Given the description of an element on the screen output the (x, y) to click on. 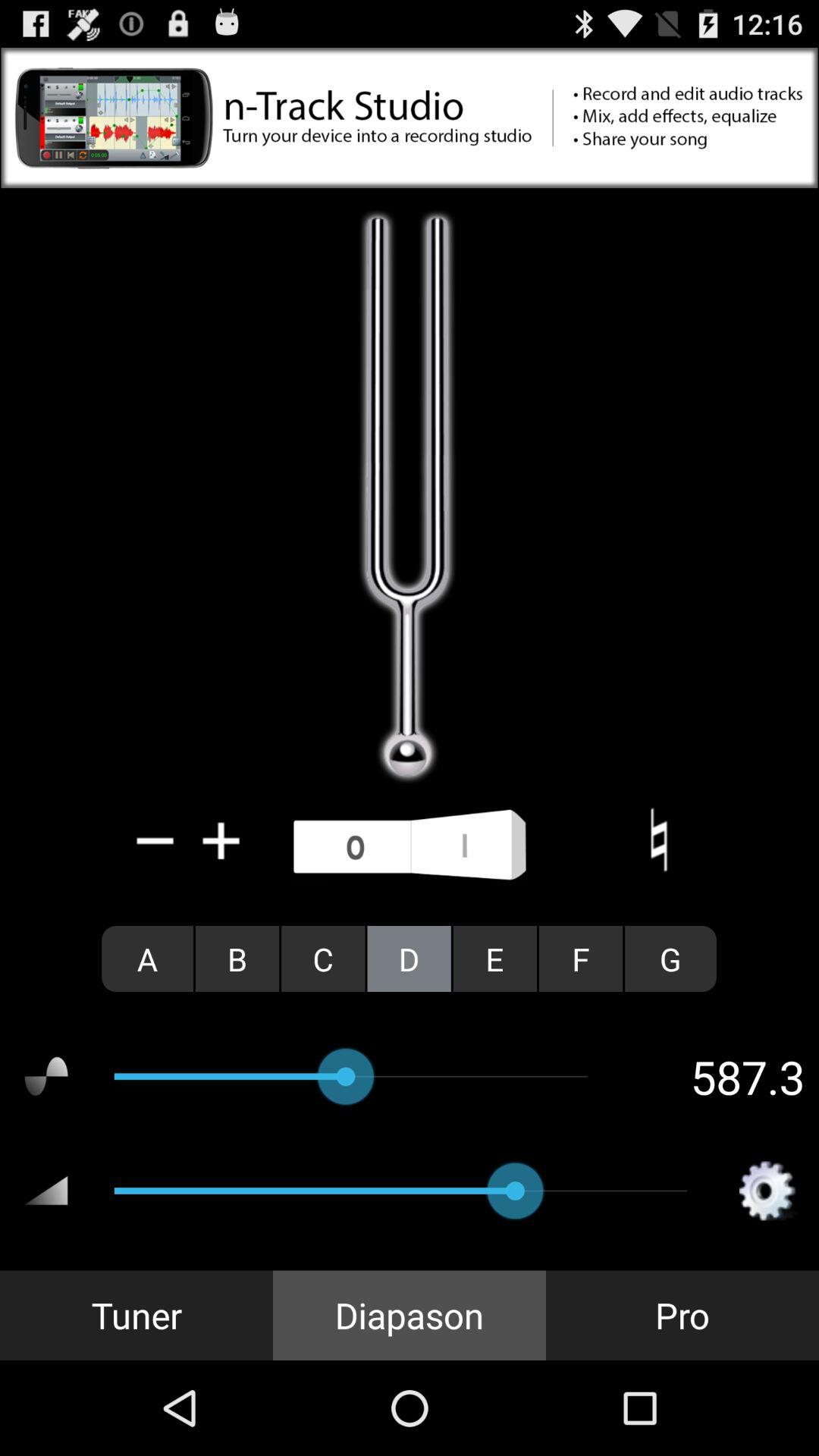
click the app above the 587.3 (580, 958)
